Given the description of an element on the screen output the (x, y) to click on. 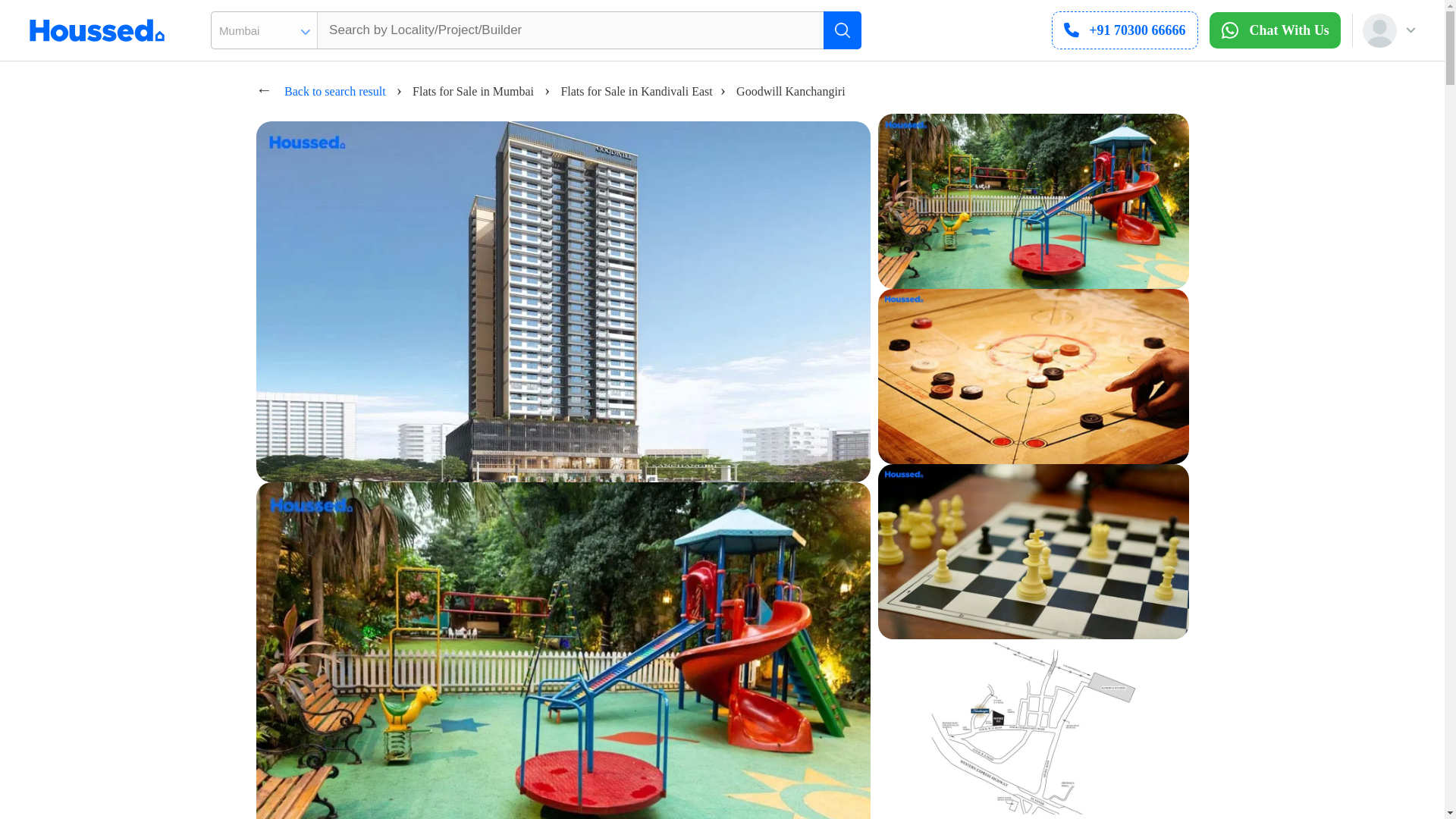
Search (842, 30)
Chat With Us (1274, 30)
Back to search result (334, 91)
Search (842, 30)
Flats for Sale in Mumbai (473, 91)
Flats for Sale in Kandivali East (635, 91)
